Given the description of an element on the screen output the (x, y) to click on. 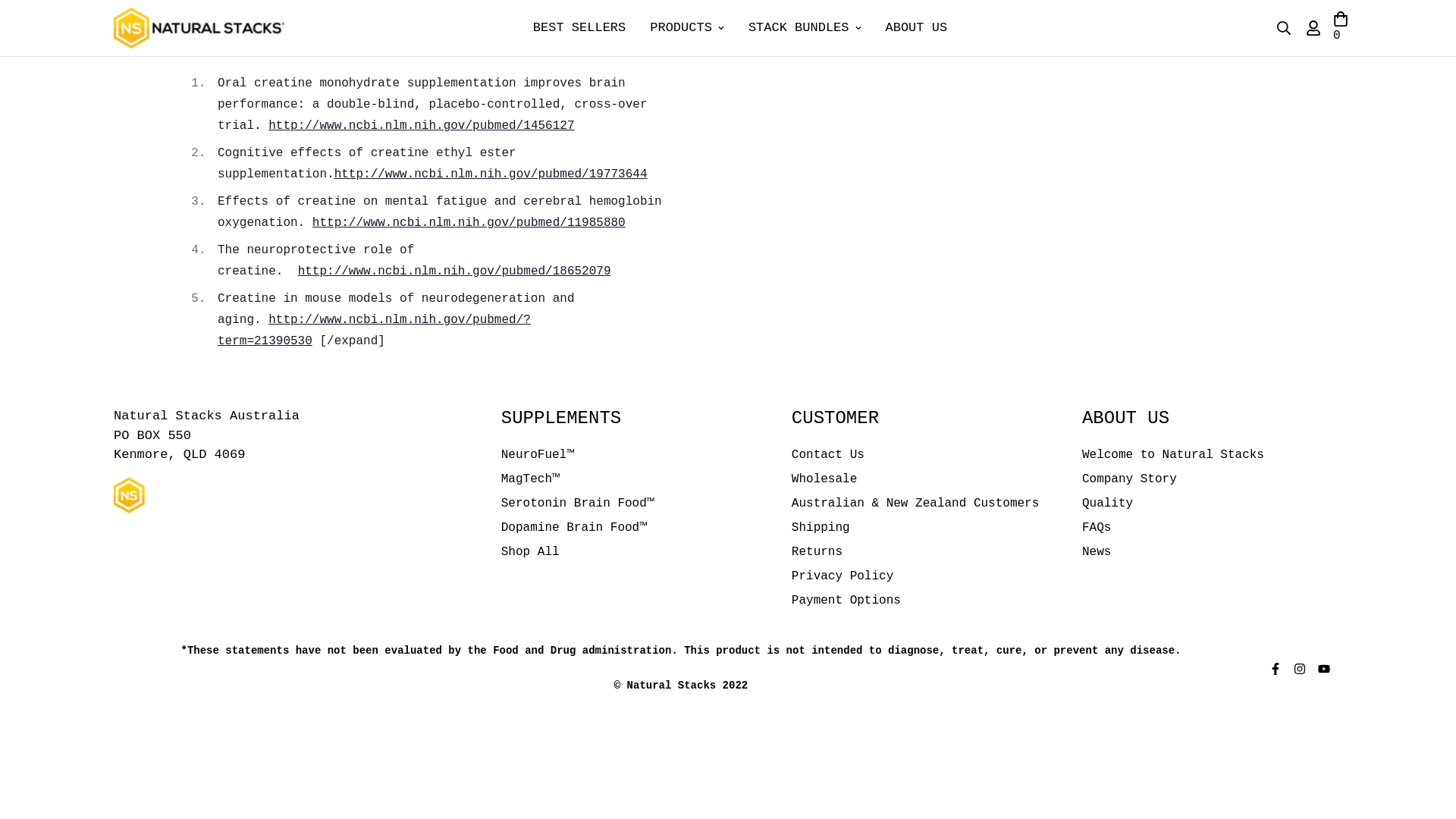
http://www.ncbi.nlm.nih.gov/pubmed/?term=21390530 Element type: text (373, 330)
Home Element type: text (517, 45)
Company Story Element type: text (1129, 479)
0 Element type: text (1340, 27)
Quality Element type: text (1107, 503)
http://www.ncbi.nlm.nih.gov/pubmed/19773644 Element type: text (490, 174)
PRODUCTS Element type: text (686, 27)
News Element type: text (1096, 551)
Returns Element type: text (816, 551)
http://www.ncbi.nlm.nih.gov/pubmed/11985880 Element type: text (468, 222)
Welcome to Natural Stacks Element type: text (1173, 454)
www.naturalstacks.com.au Element type: hover (198, 28)
Shipping Element type: text (820, 527)
STACK BUNDLES Element type: text (804, 27)
Privacy Policy Element type: text (842, 576)
http://www.ncbi.nlm.nih.gov/pubmed/1456127 Element type: text (421, 125)
Payment Options Element type: text (845, 600)
http://www.ncbi.nlm.nih.gov/pubmed/18652079 Element type: text (454, 271)
Australian & New Zealand Customers Element type: text (914, 503)
ABOUT US Element type: text (916, 27)
Contact Us Element type: text (827, 454)
Shop All Element type: text (530, 551)
Wholesale Element type: text (823, 479)
FAQs Element type: text (1096, 527)
BEST SELLERS Element type: text (578, 27)
